Given the description of an element on the screen output the (x, y) to click on. 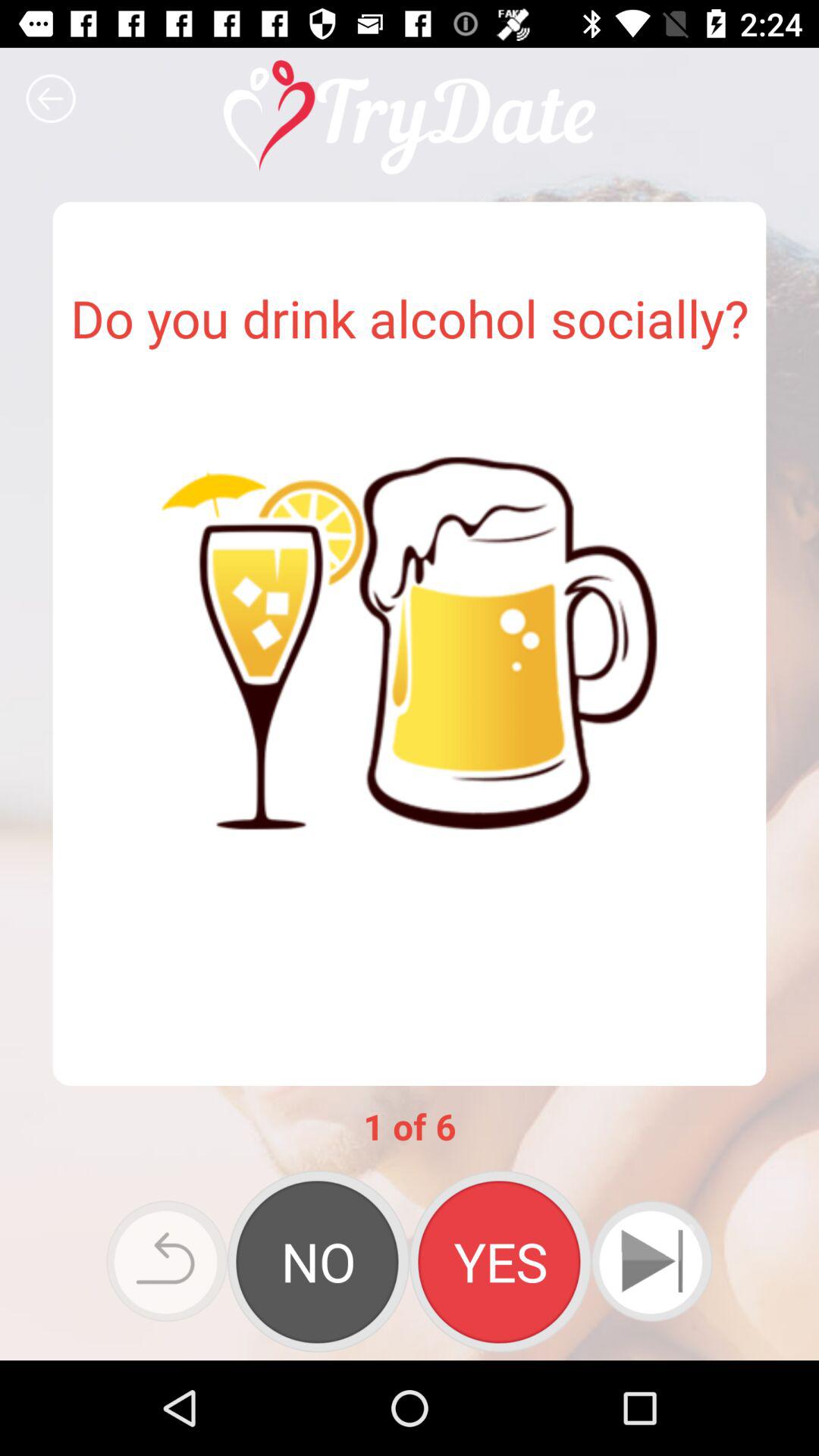
click the icon below 1 of 6 icon (651, 1260)
